Given the description of an element on the screen output the (x, y) to click on. 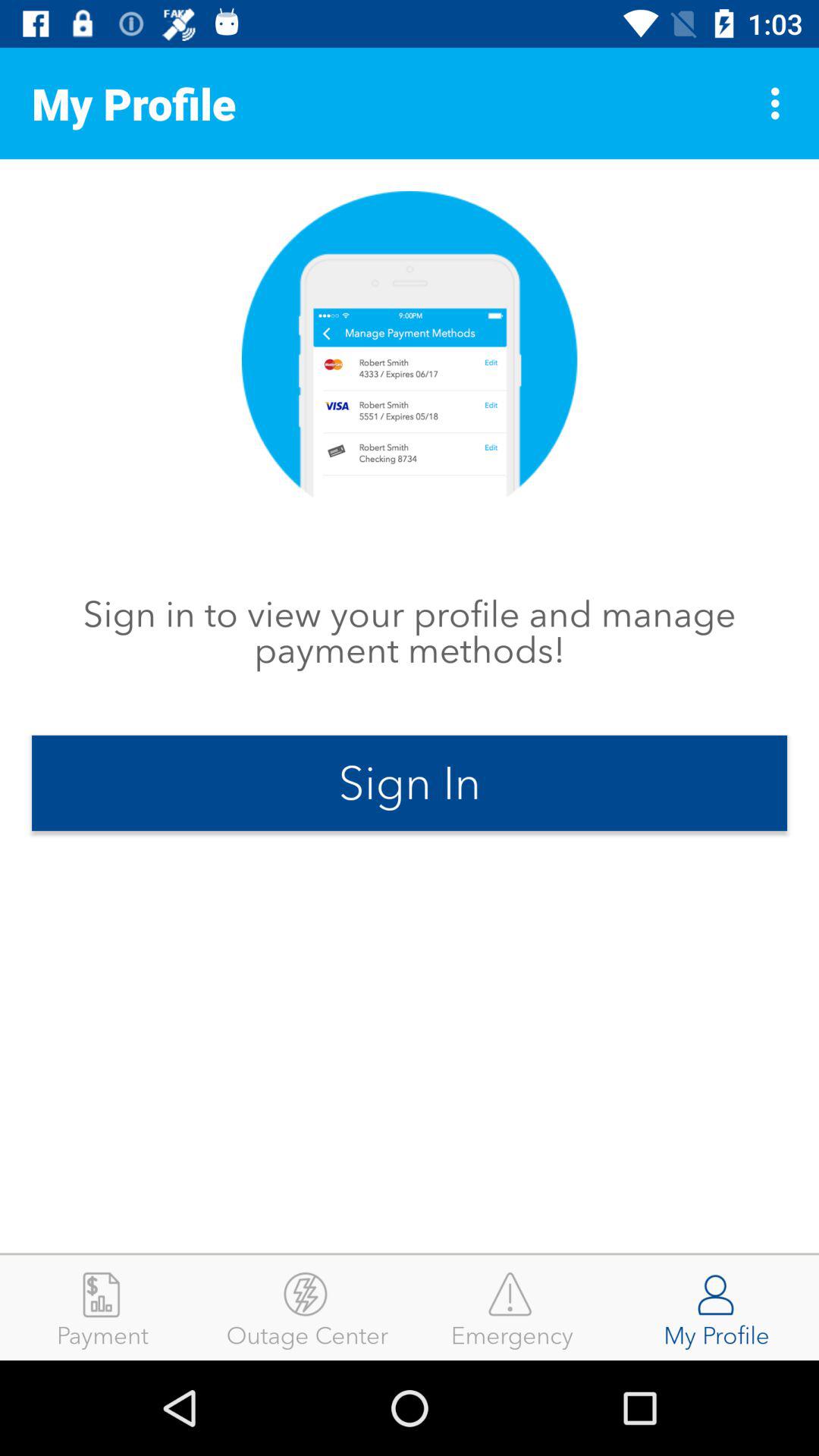
turn on the icon to the right of the outage center (511, 1307)
